Given the description of an element on the screen output the (x, y) to click on. 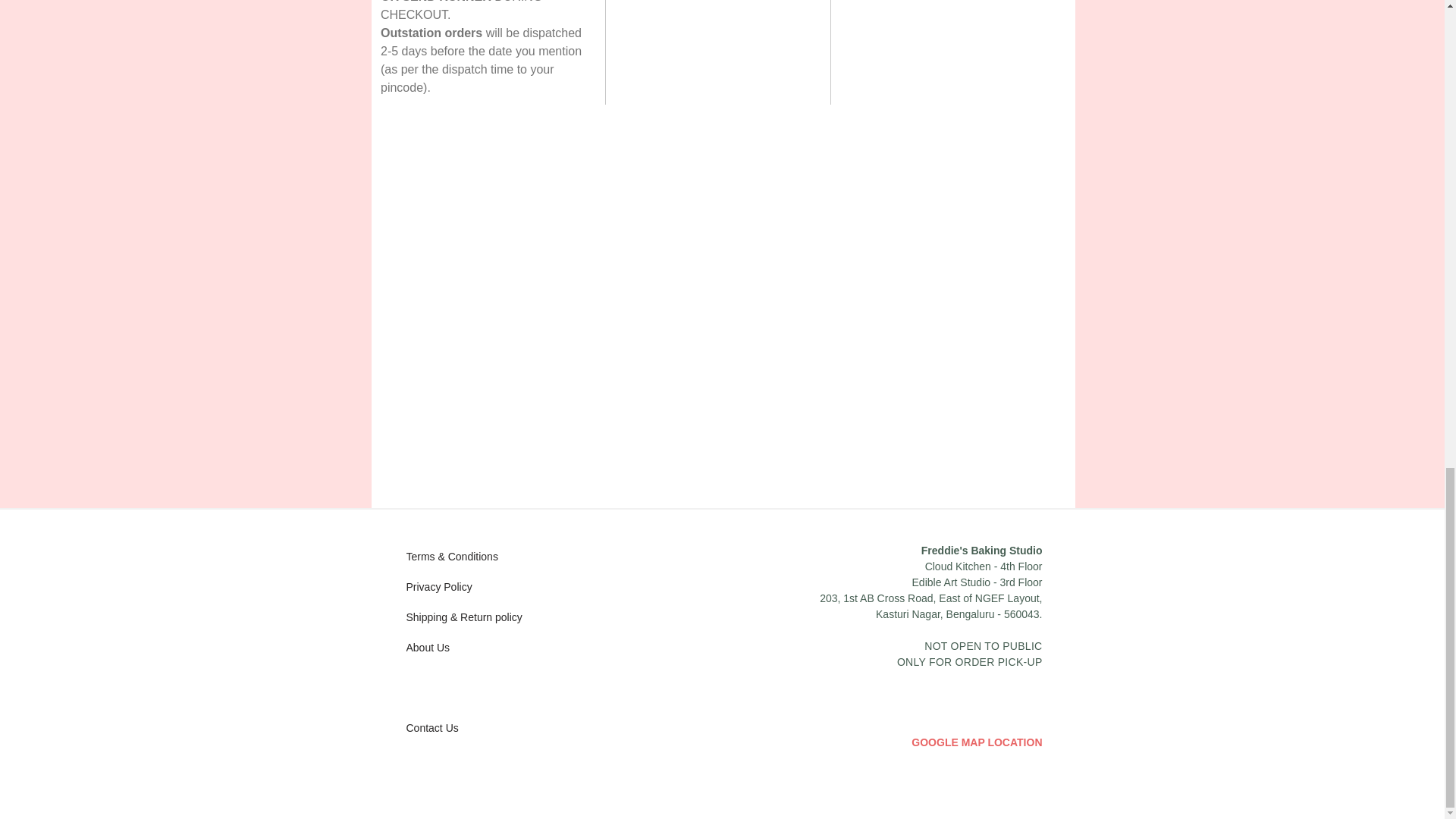
About Us (447, 646)
GOOGLE MAP LOCATION (954, 742)
Contact Us (447, 728)
Privacy Policy (447, 586)
